Given the description of an element on the screen output the (x, y) to click on. 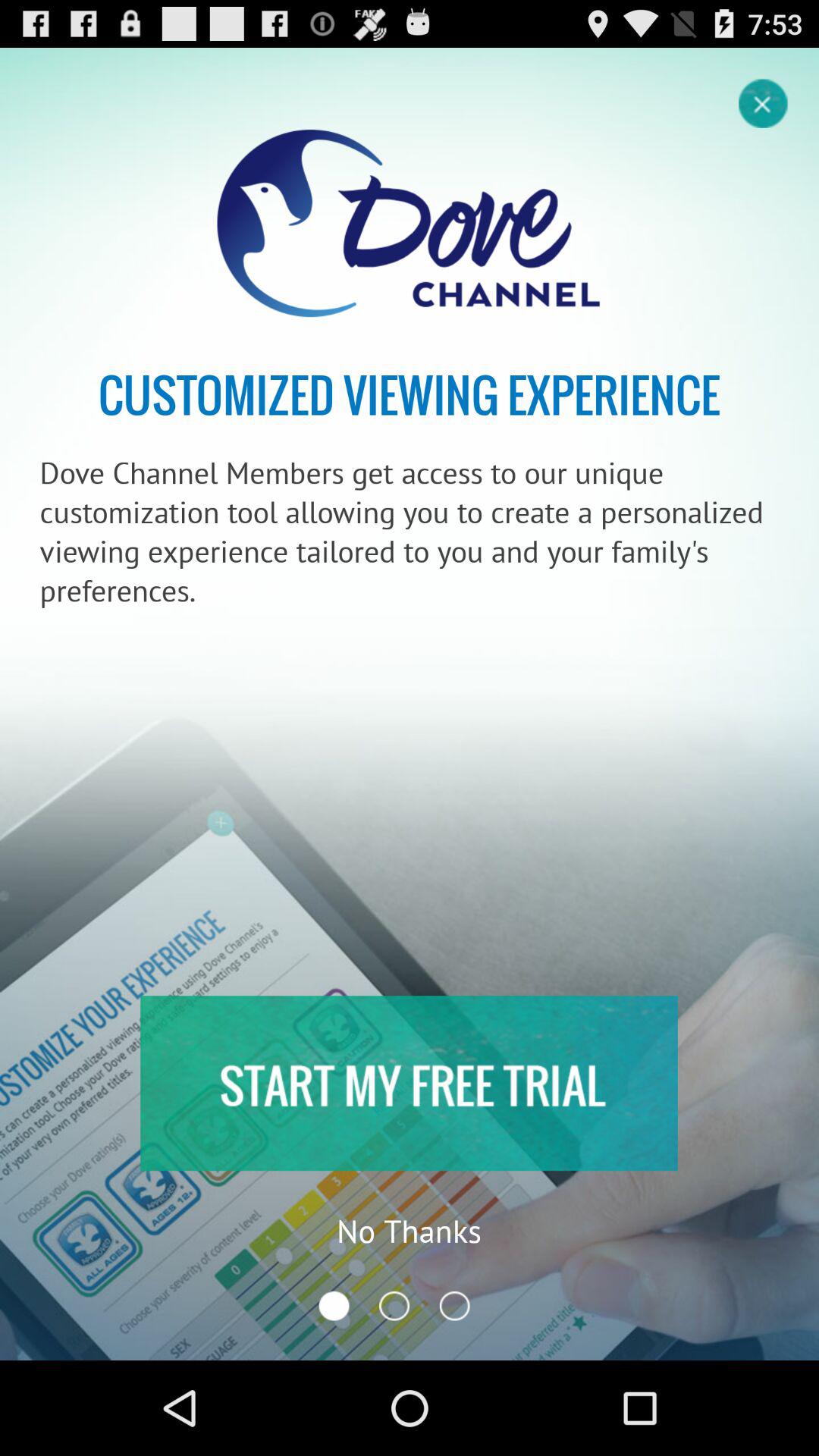
close button (763, 102)
